Given the description of an element on the screen output the (x, y) to click on. 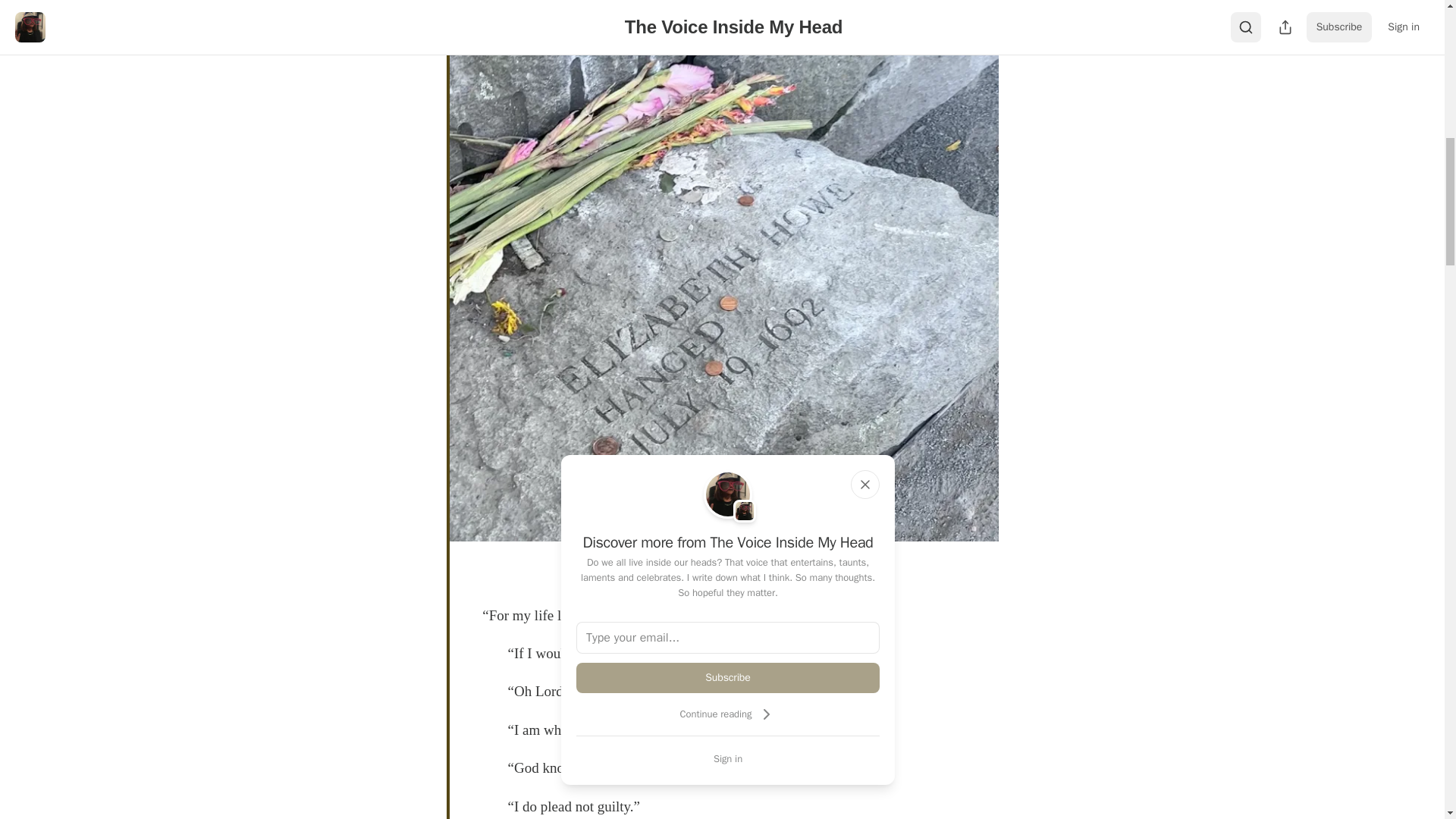
Sign in (727, 758)
Subscribe (727, 677)
